Given the description of an element on the screen output the (x, y) to click on. 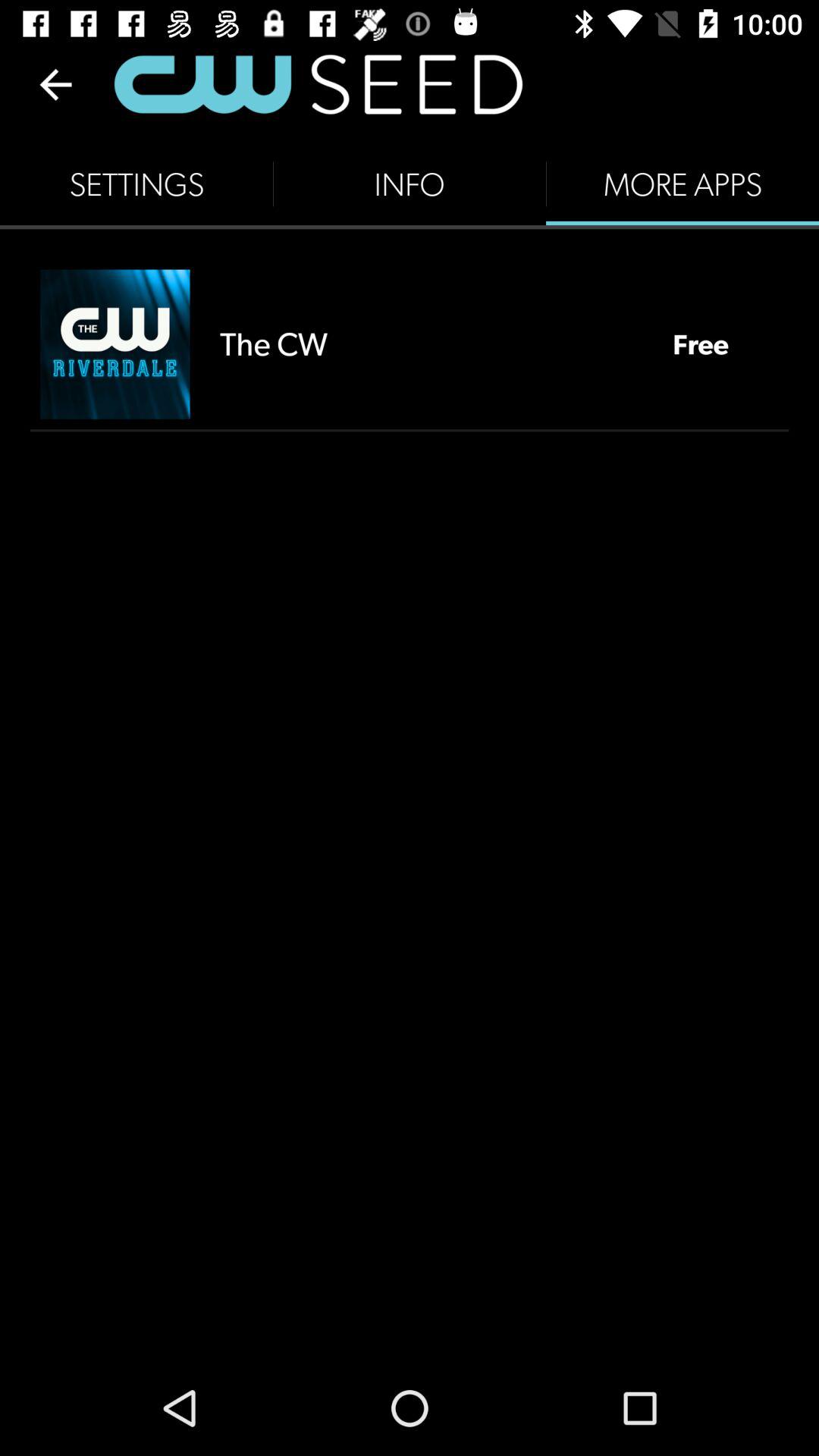
turn on the icon next to the the cw (114, 344)
